Given the description of an element on the screen output the (x, y) to click on. 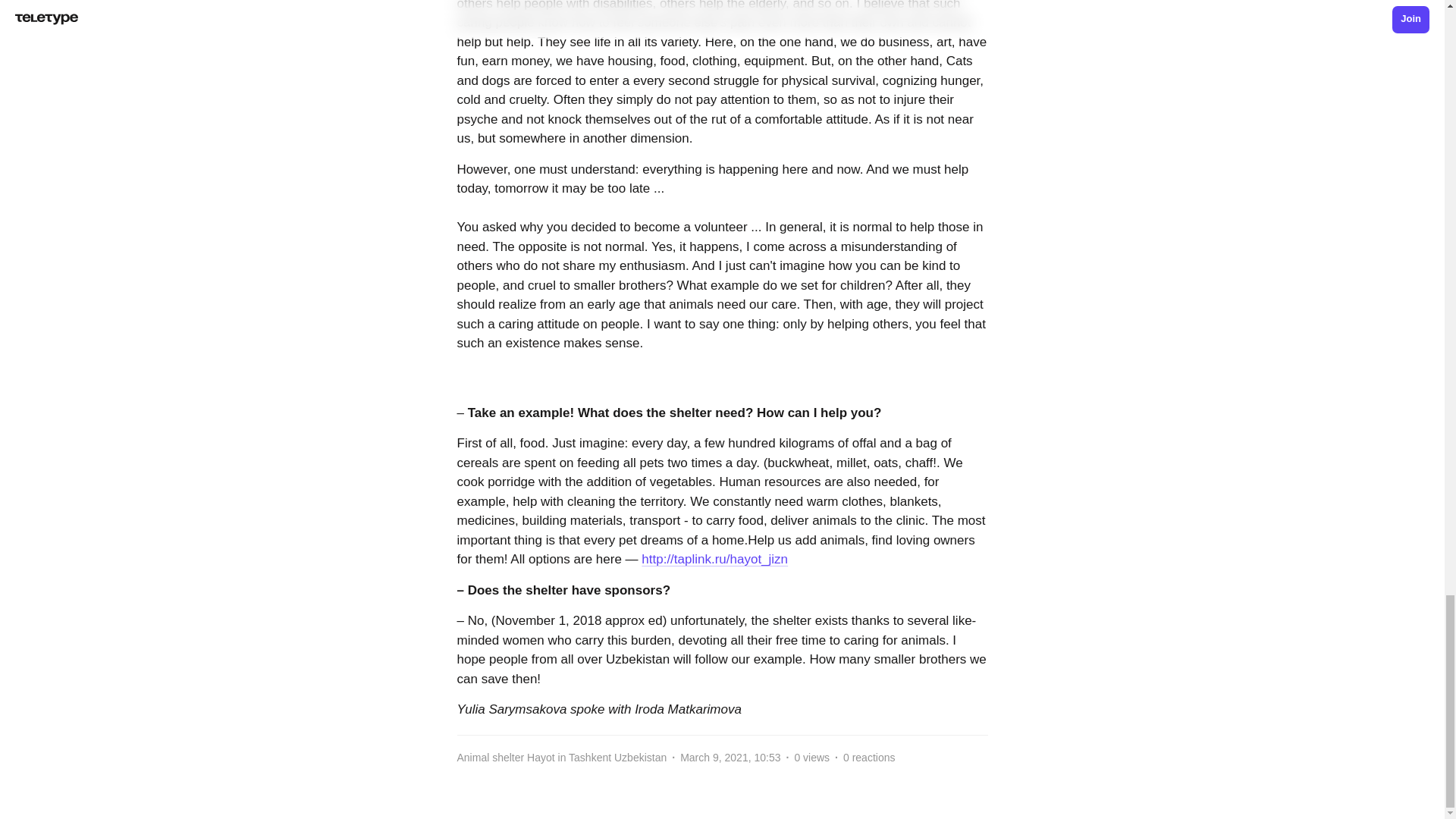
Animal shelter Hayot in Tashkent Uzbekistan (566, 758)
